Given the description of an element on the screen output the (x, y) to click on. 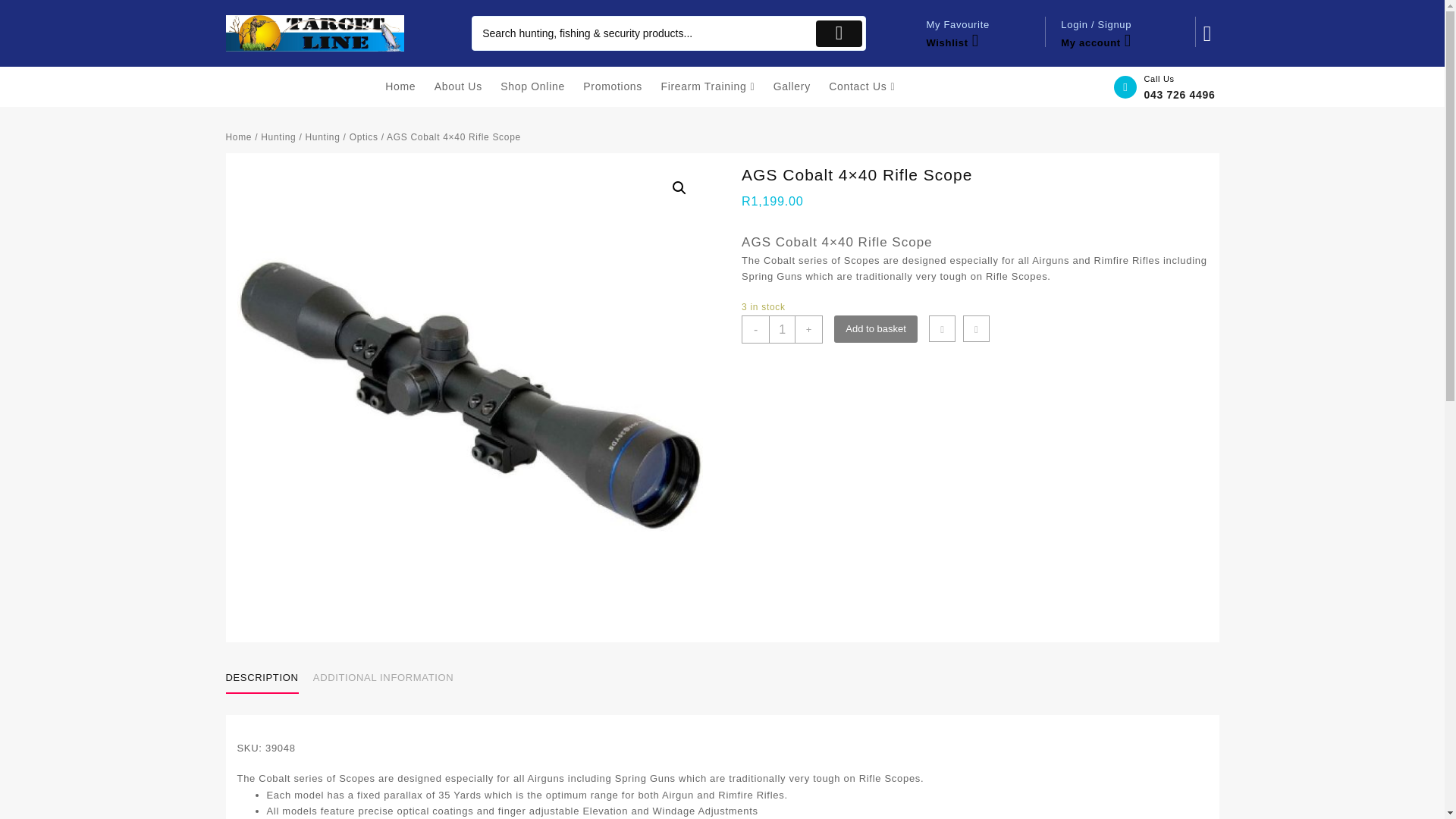
Search (641, 33)
My Favourite Wishlist (978, 33)
Submit (838, 33)
1 (781, 329)
